Given the description of an element on the screen output the (x, y) to click on. 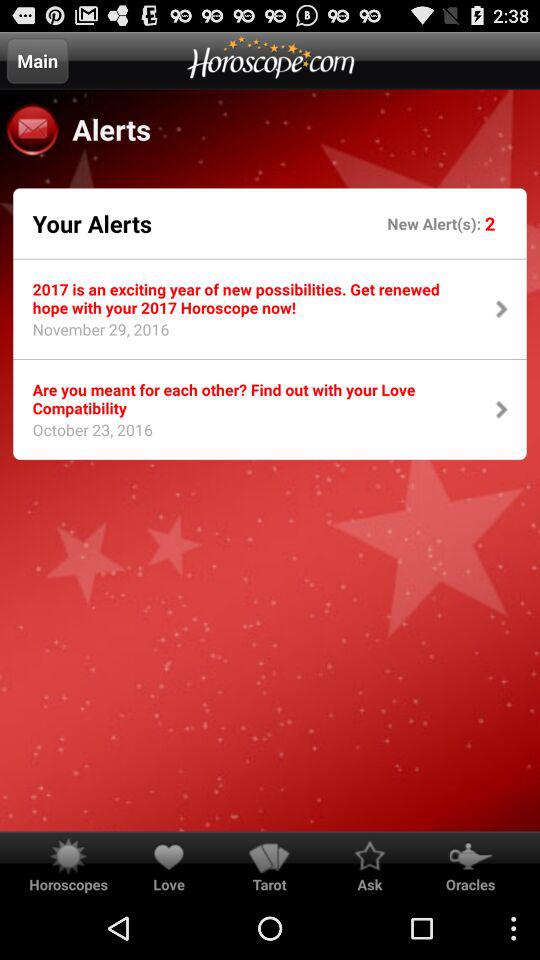
click the icon next to new alert(s):  icon (489, 222)
